Given the description of an element on the screen output the (x, y) to click on. 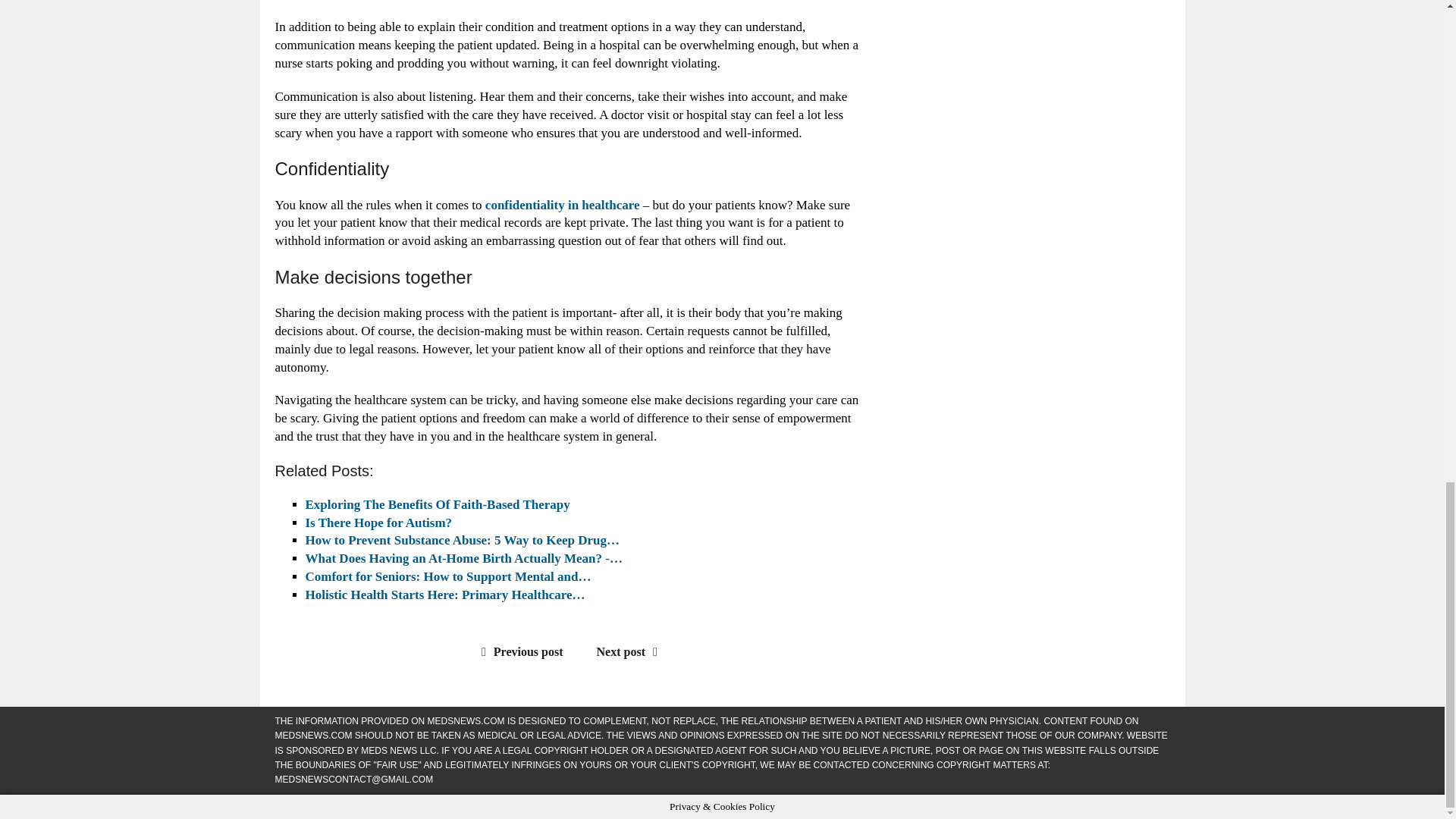
Is There Hope for Autism? (377, 522)
confidentiality in healthcare (562, 204)
Next post (630, 651)
Exploring The Benefits Of Faith-Based Therapy (436, 504)
Previous post (518, 651)
